Given the description of an element on the screen output the (x, y) to click on. 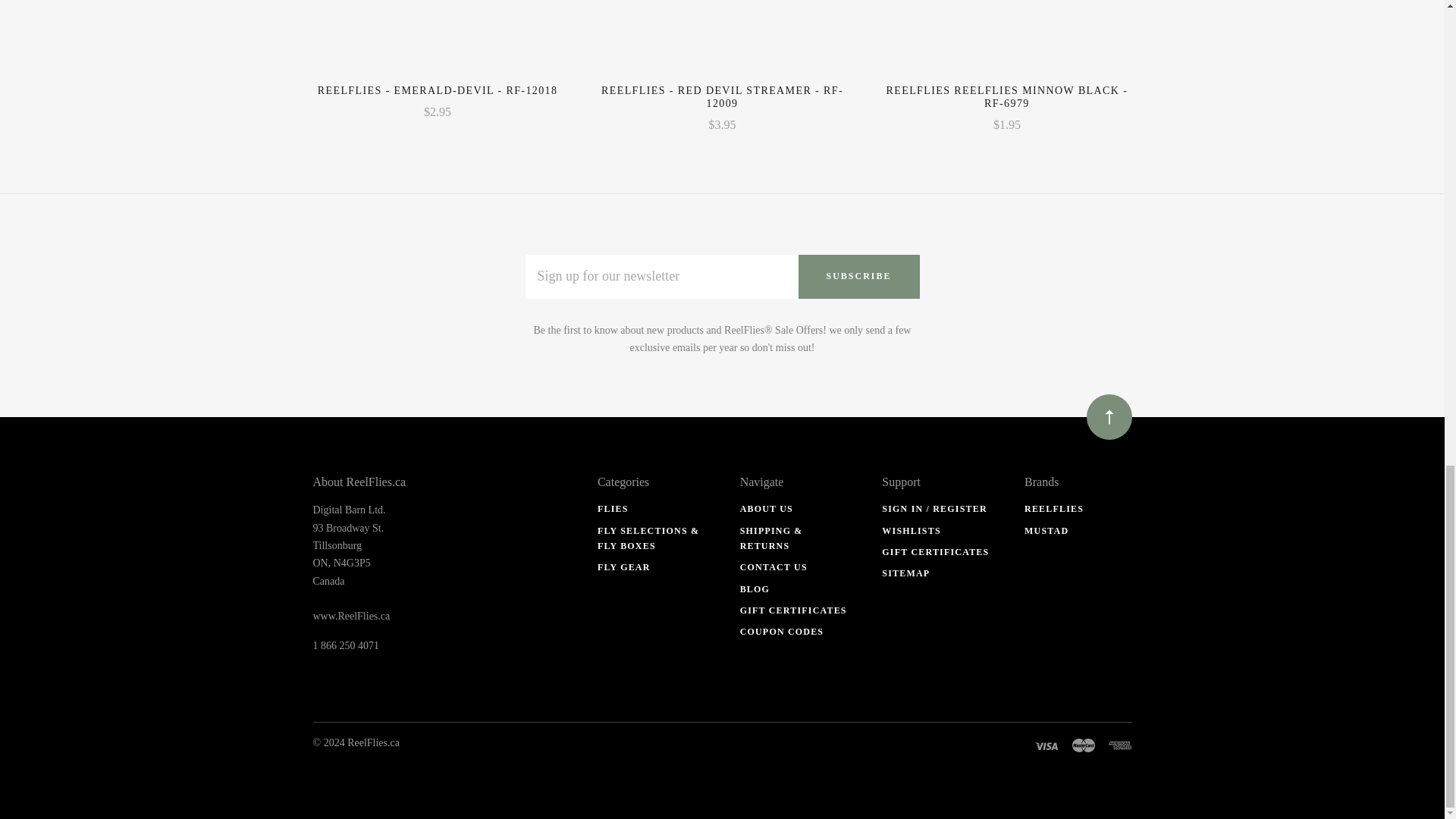
ReelFlies - Emerald-Devil - RF-12018 (437, 36)
ReelFlies  ReelFlies Minnow Black - RF-6979 (1006, 36)
ReelFlies - Emerald-Devil - RF-12018 (437, 90)
ReelFlies  ReelFlies Minnow Black - RF-6979 (1007, 96)
Subscribe (857, 276)
ReelFlies - Red Devil Streamer - RF-12009 (721, 36)
ReelFlies - Red Devil Streamer - RF-12009 (722, 96)
